Given the description of an element on the screen output the (x, y) to click on. 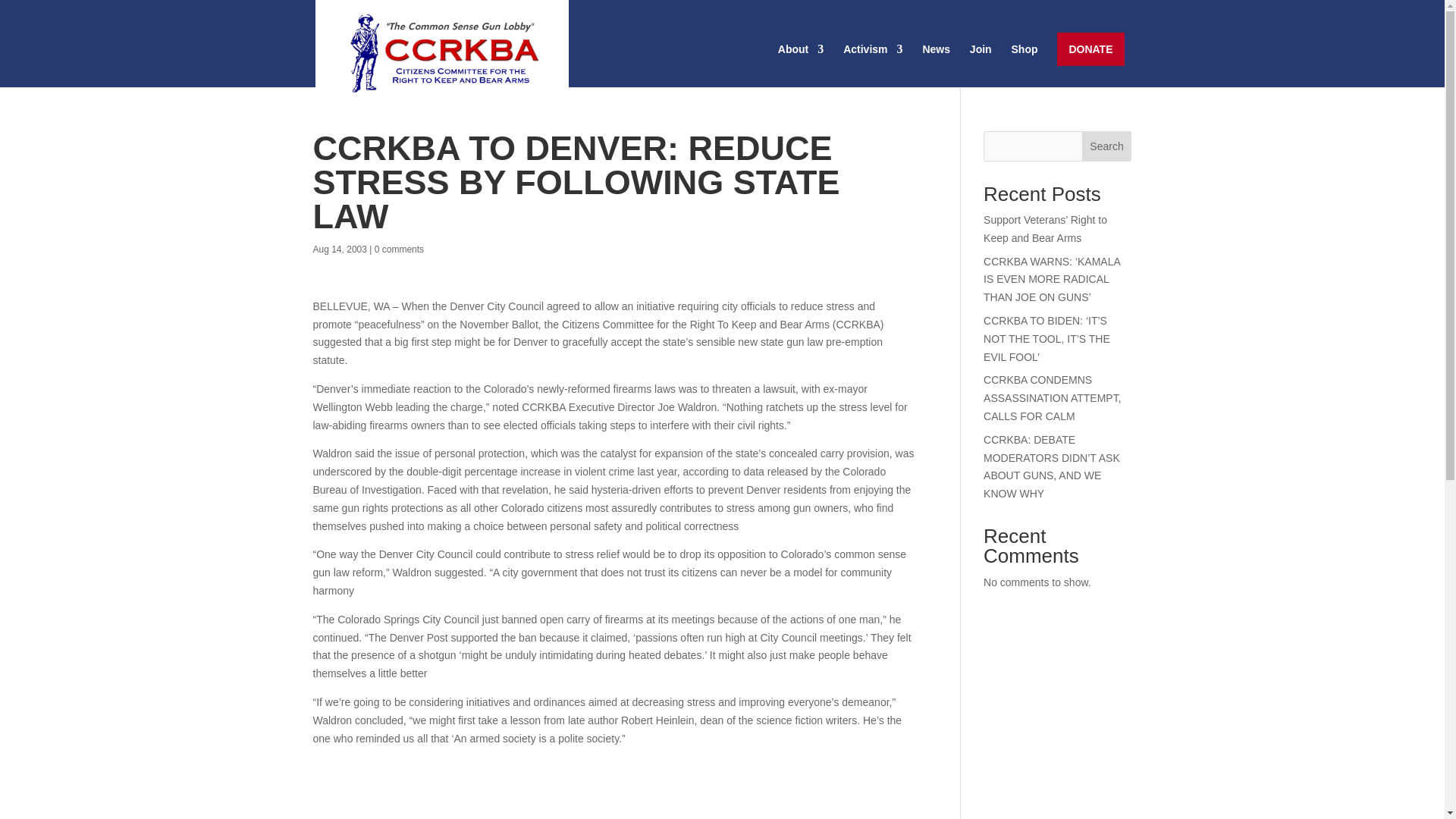
Activism (872, 65)
0 comments (398, 249)
DONATE (1090, 49)
Search (1106, 146)
About (800, 65)
CCRKBA CONDEMNS ASSASSINATION ATTEMPT, CALLS FOR CALM (1052, 397)
